Given the description of an element on the screen output the (x, y) to click on. 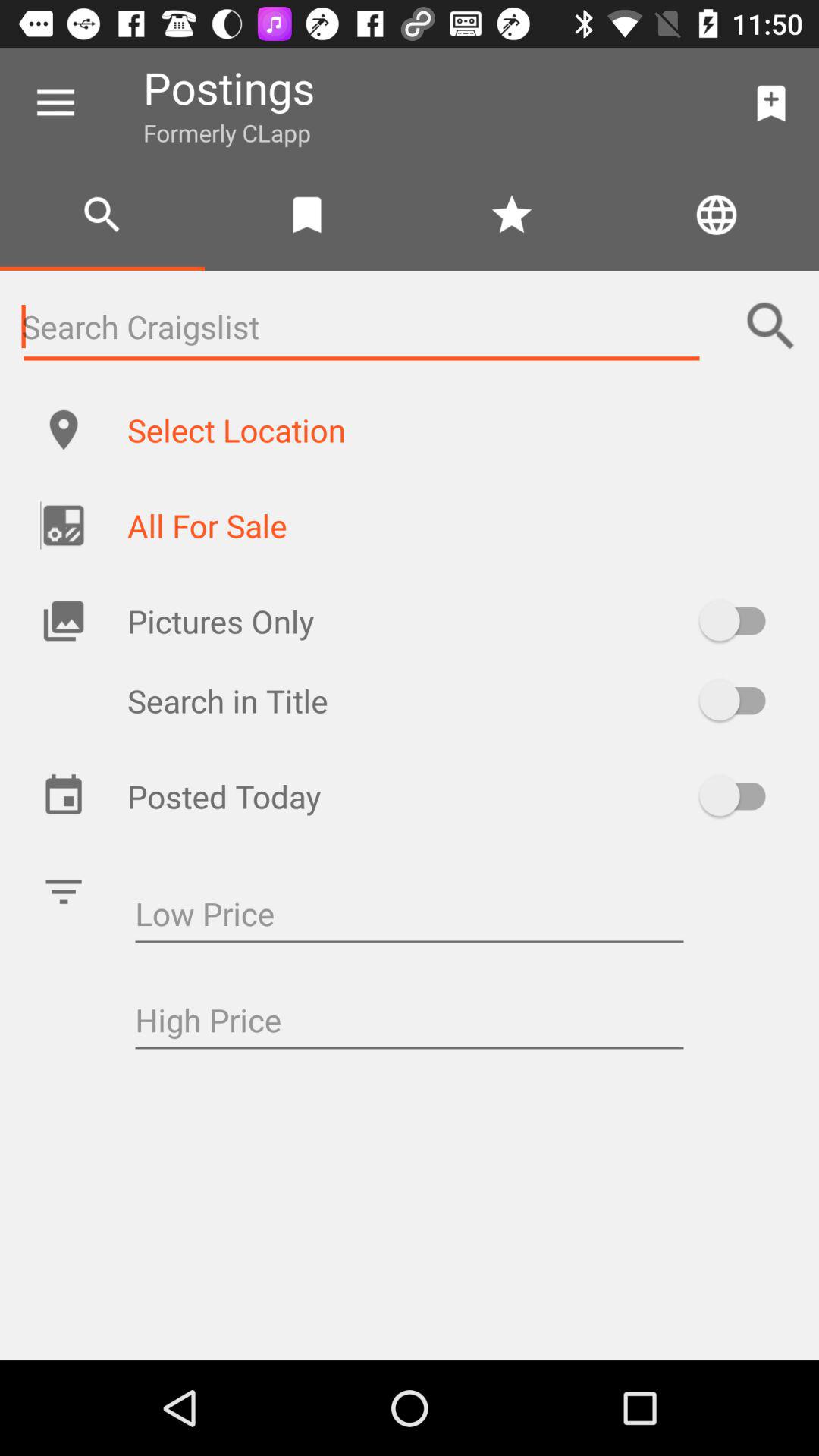
choose the item to the right of postings item (771, 103)
